Given the description of an element on the screen output the (x, y) to click on. 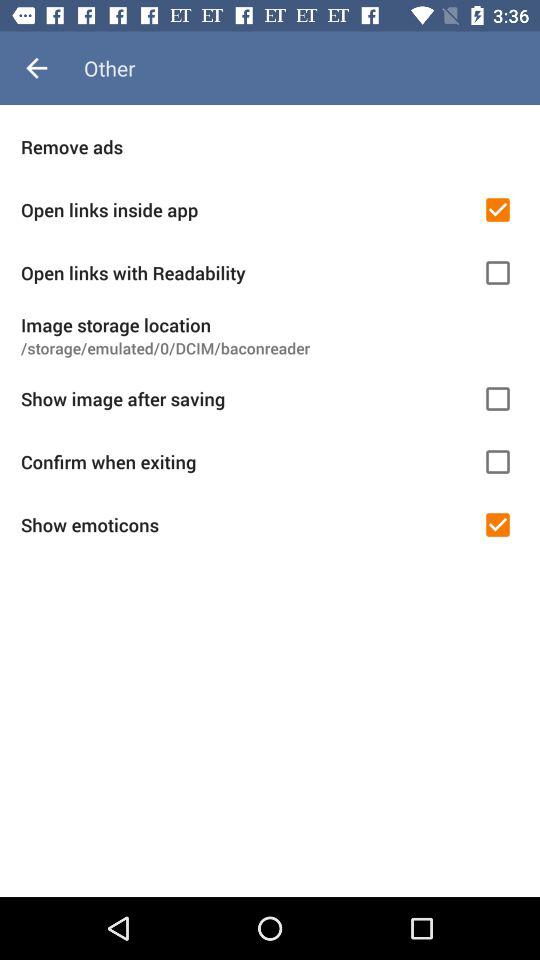
select the icon beside the show image after saving (497, 399)
